Given the description of an element on the screen output the (x, y) to click on. 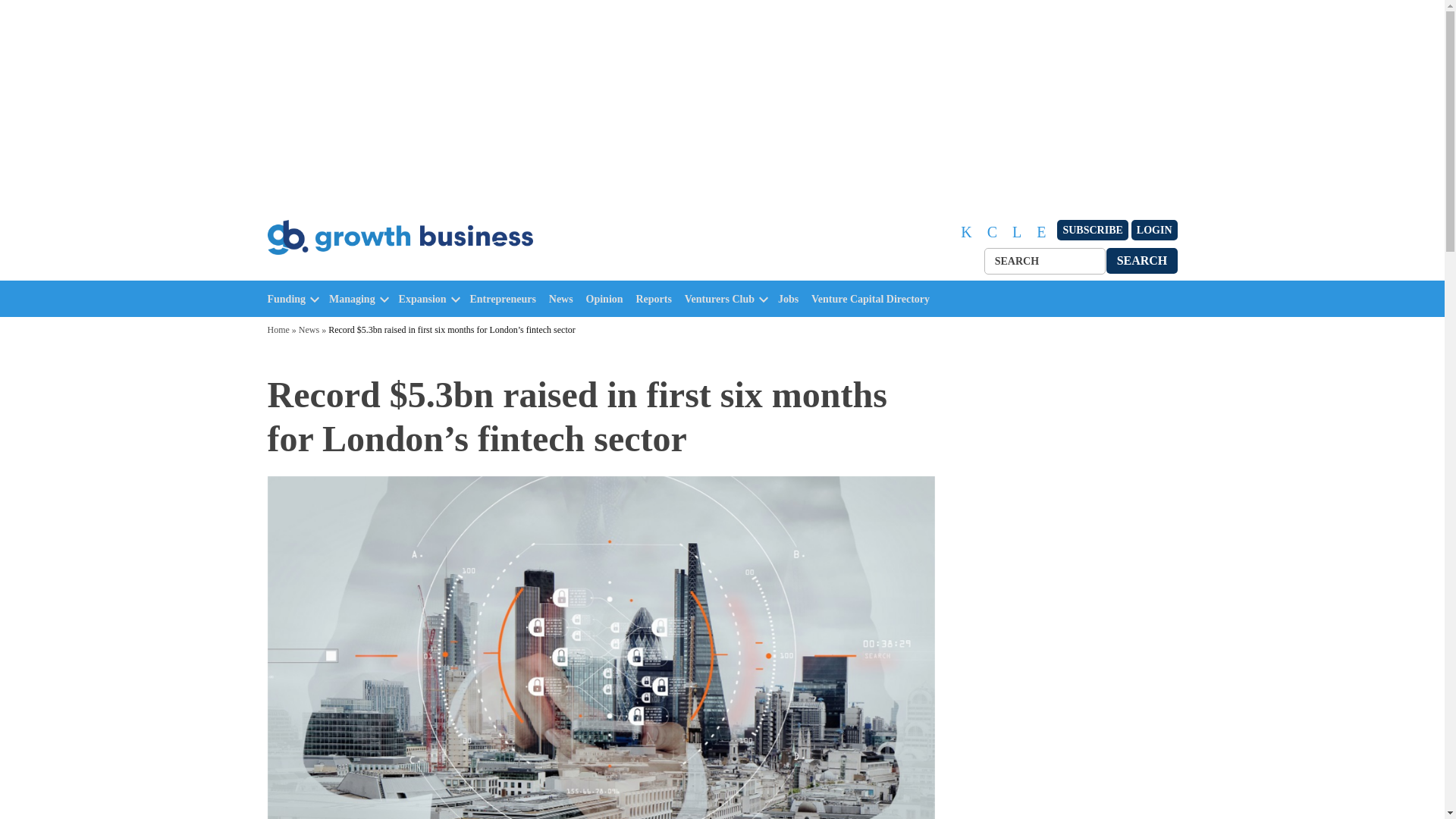
Funding (285, 298)
SEARCH (1142, 260)
Opinion (608, 298)
LOGIN (1154, 230)
Reports (656, 298)
Entrepreneurs (506, 298)
Growth Business (332, 271)
Managing (352, 298)
News (564, 298)
SUBSCRIBE (1091, 230)
Expansion (422, 298)
